Given the description of an element on the screen output the (x, y) to click on. 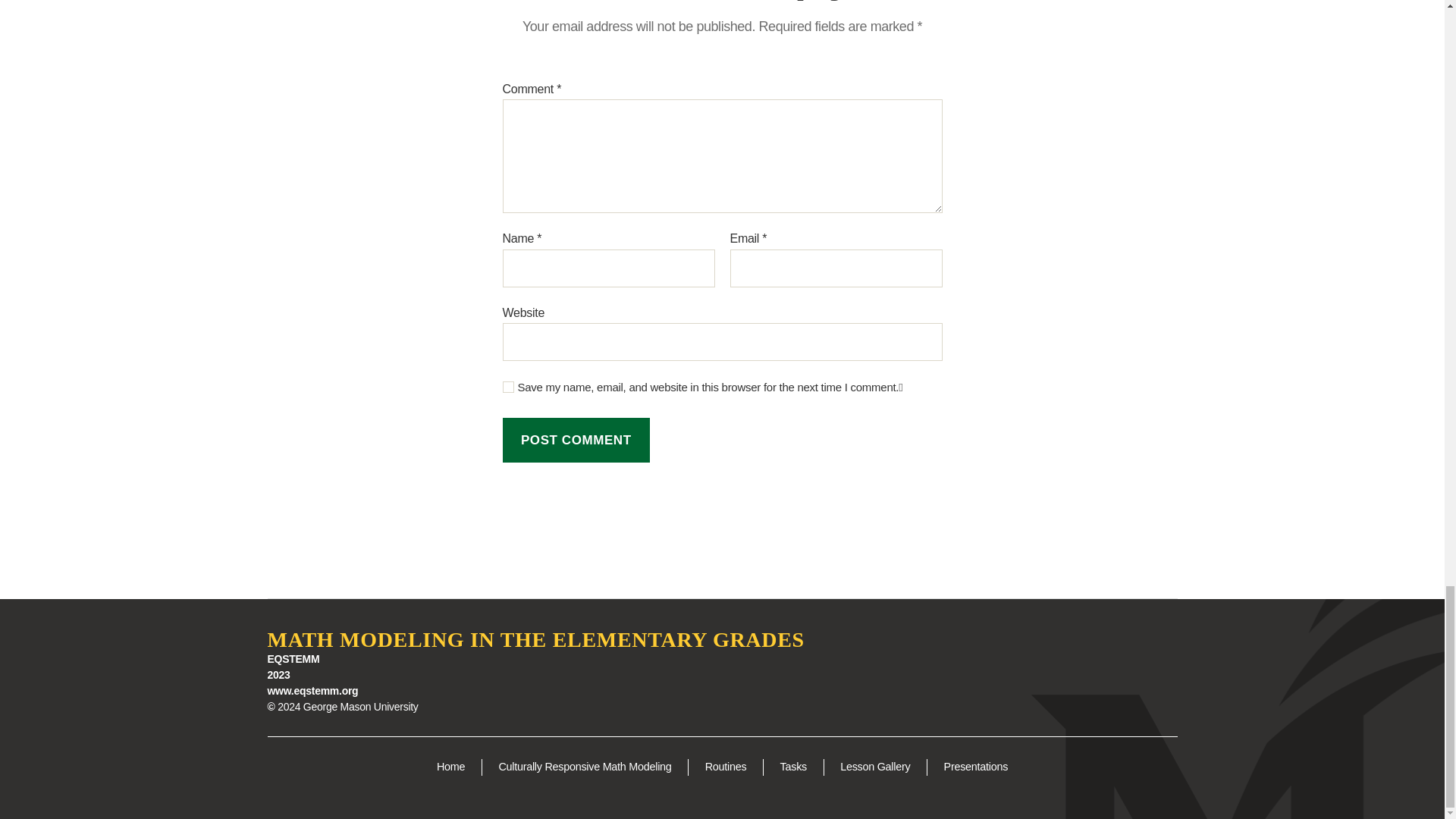
yes (507, 387)
Post Comment (575, 439)
